Given the description of an element on the screen output the (x, y) to click on. 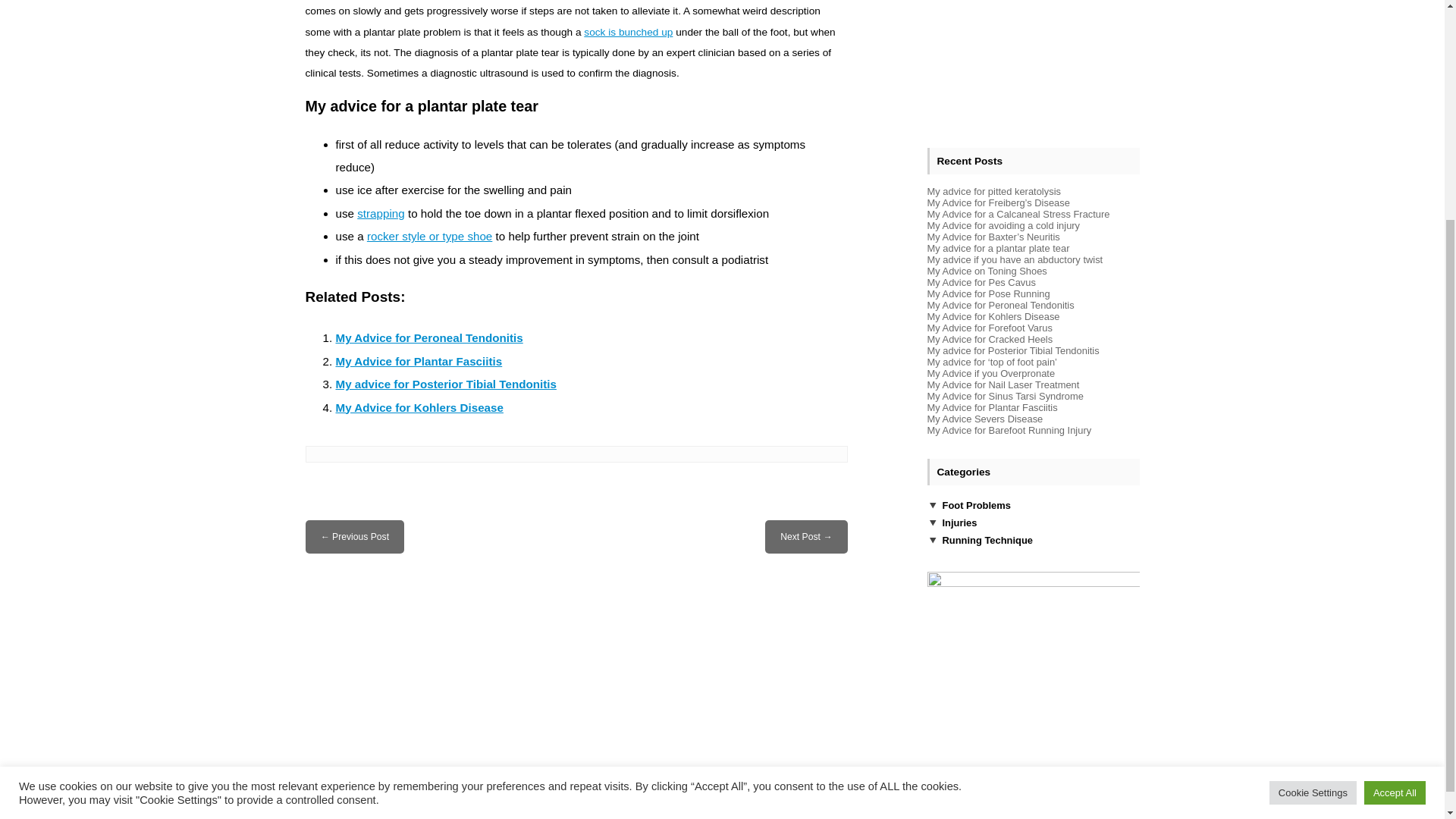
My Advice for Peroneal Tendonitis (428, 337)
My Advice on Toning Shoes (986, 247)
My advice for Posterior Tibial Tendonitis (445, 383)
My Advice for Forefoot Varus (988, 305)
My Advice for Cracked Heels (989, 316)
My Advice for Plantar Fasciitis (418, 360)
My advice for Posterior Tibial Tendonitis (445, 383)
My advice if you have an abductory twist (359, 536)
My Advice for Kohlers Disease (418, 407)
My Advice for Kohlers Disease (992, 293)
My advice for Posterior Tibial Tendonitis (1012, 327)
strapping (380, 213)
My Advice for Pes Cavus (980, 259)
My Advice for Sinus Tarsi Syndrome (1004, 373)
My Advice for Peroneal Tendonitis (428, 337)
